Given the description of an element on the screen output the (x, y) to click on. 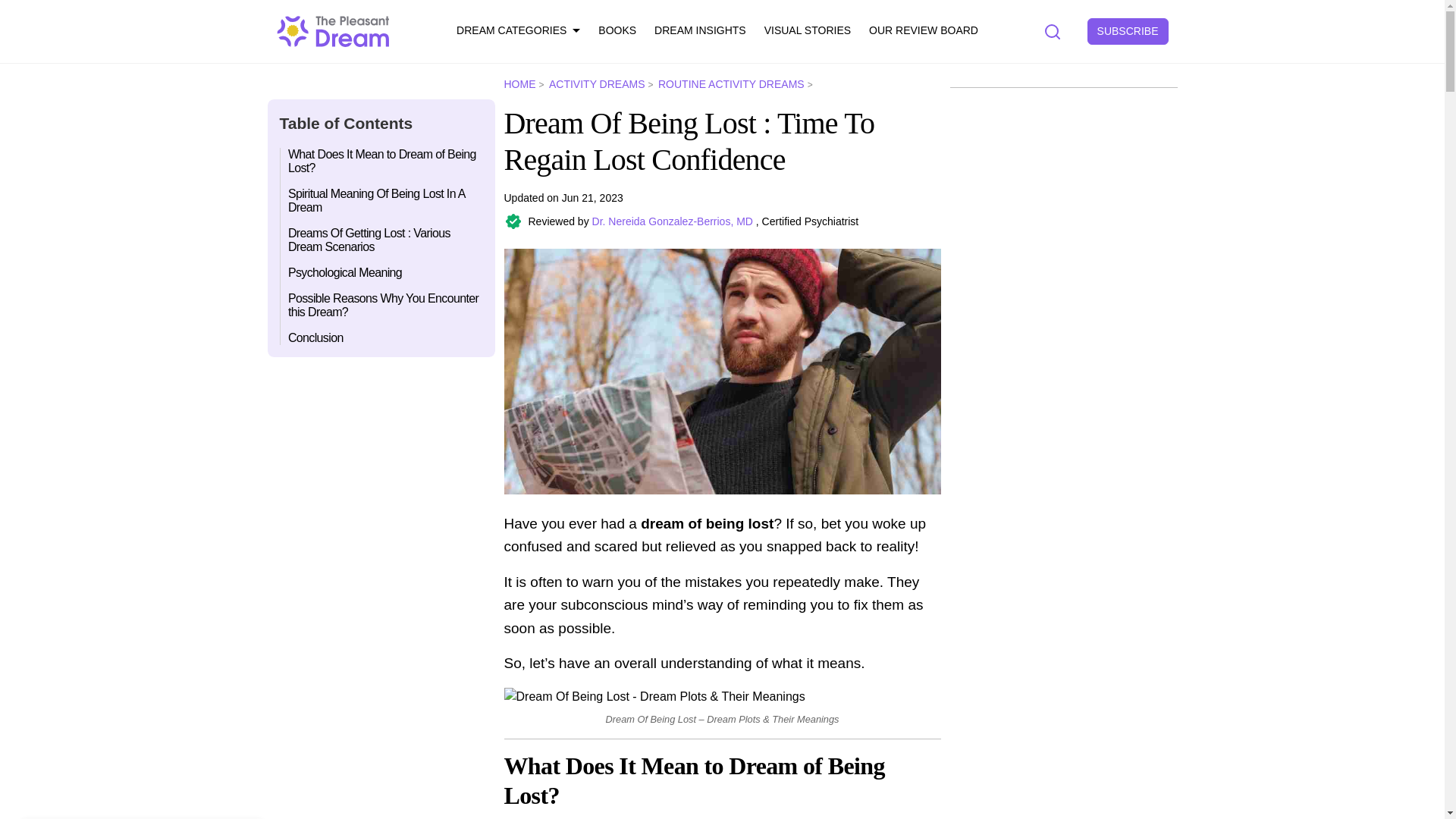
DREAM INSIGHTS (699, 31)
What Does It Mean to Dream of Being Lost? (382, 163)
Conclusion (382, 333)
VISUAL STORIES (807, 31)
SUBSCRIBE (1128, 31)
Possible Reasons Why You Encounter this Dream? (382, 304)
BOOKS (617, 31)
OUR REVIEW BOARD (923, 31)
Dreams Of Getting Lost : Various Dream Scenarios (382, 239)
ThePleasantDream (333, 30)
